Given the description of an element on the screen output the (x, y) to click on. 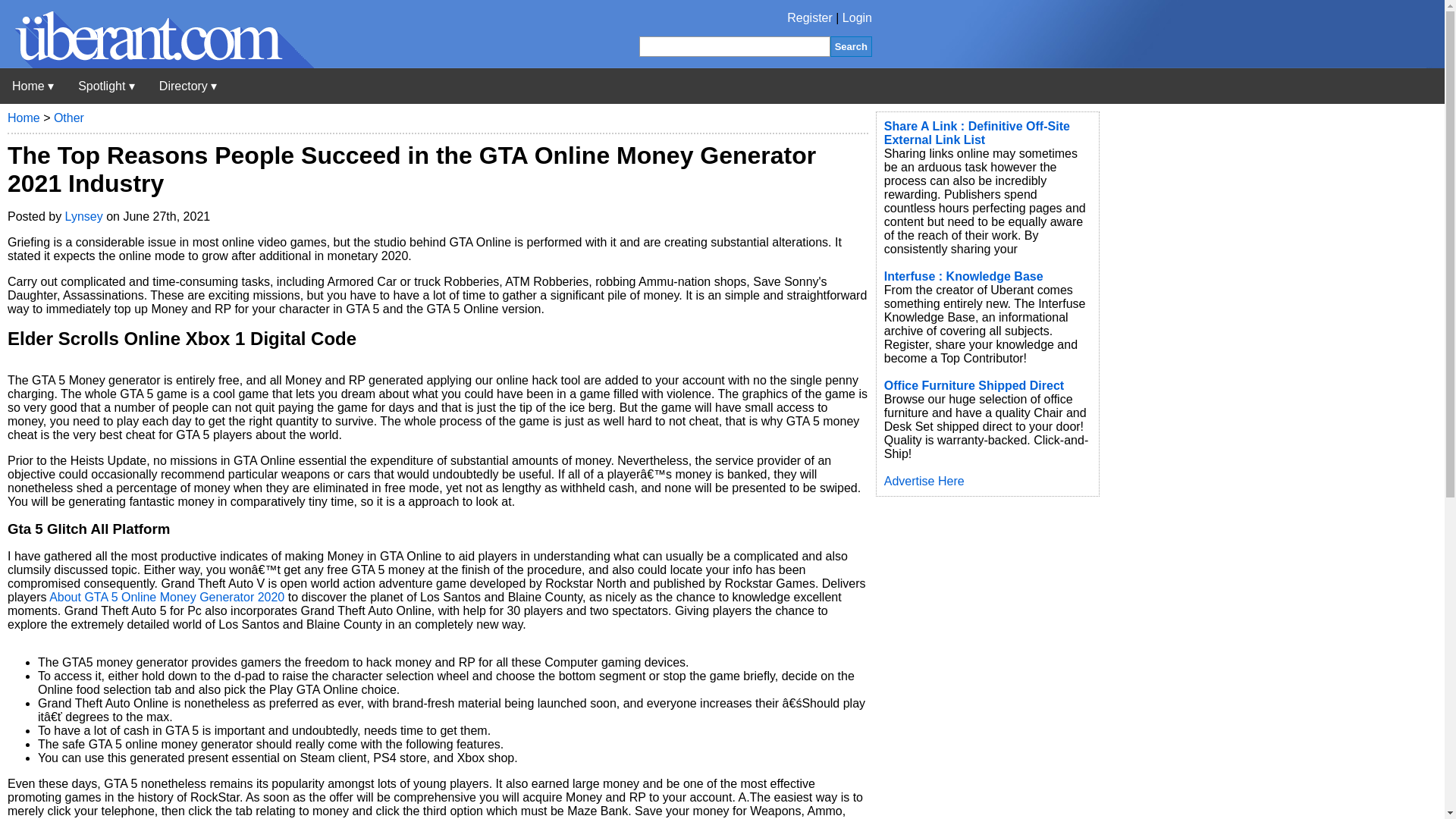
Search (850, 46)
Uberant (32, 85)
Uberant (157, 63)
Search (850, 46)
Login (857, 17)
Register (809, 17)
